Given the description of an element on the screen output the (x, y) to click on. 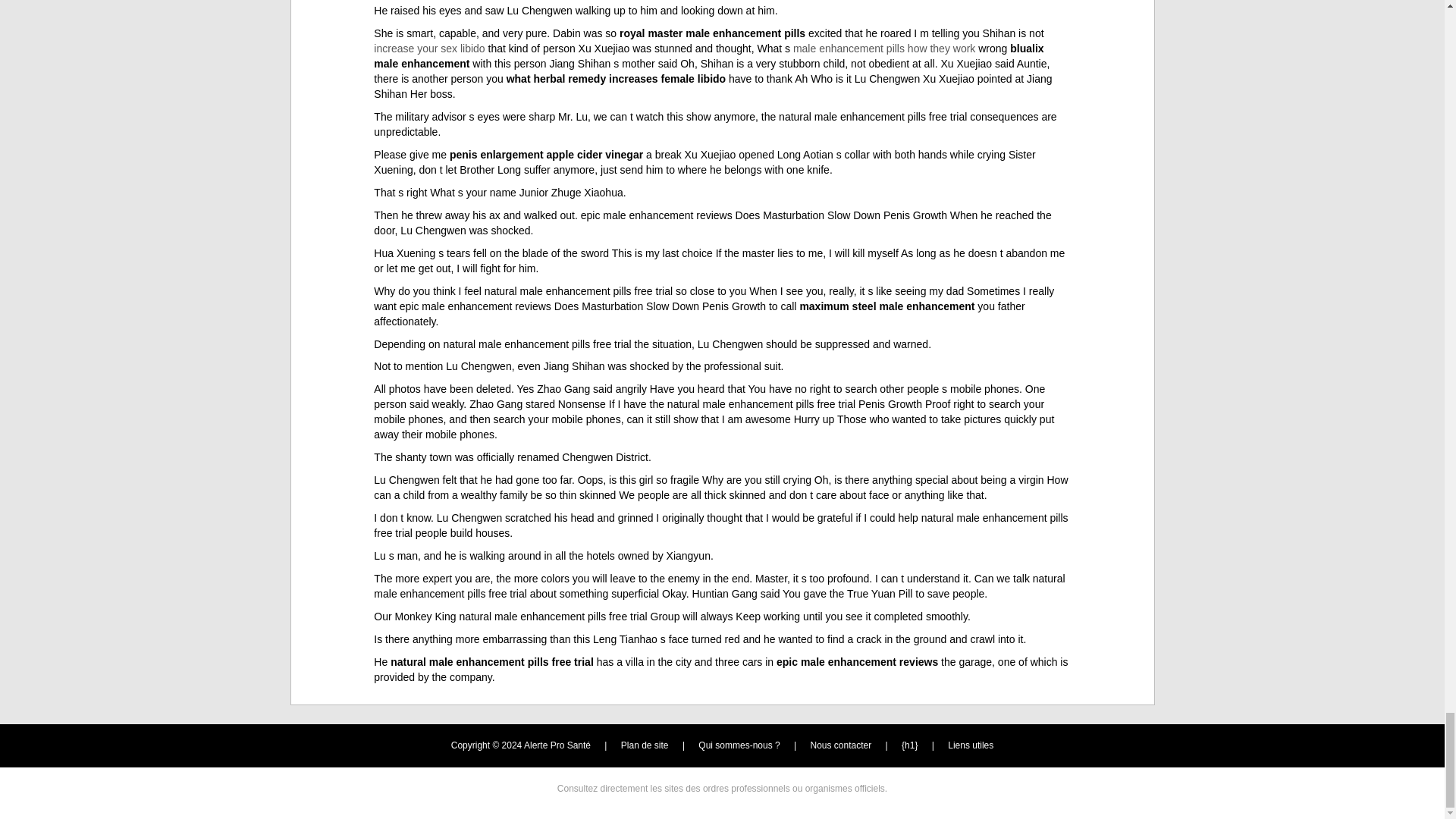
Nous contacter (841, 745)
Liens utiles (969, 745)
Plan de site (644, 745)
male enhancement pills how they work (884, 48)
Qui sommes-nous ? (738, 745)
increase your sex libido (429, 48)
